Given the description of an element on the screen output the (x, y) to click on. 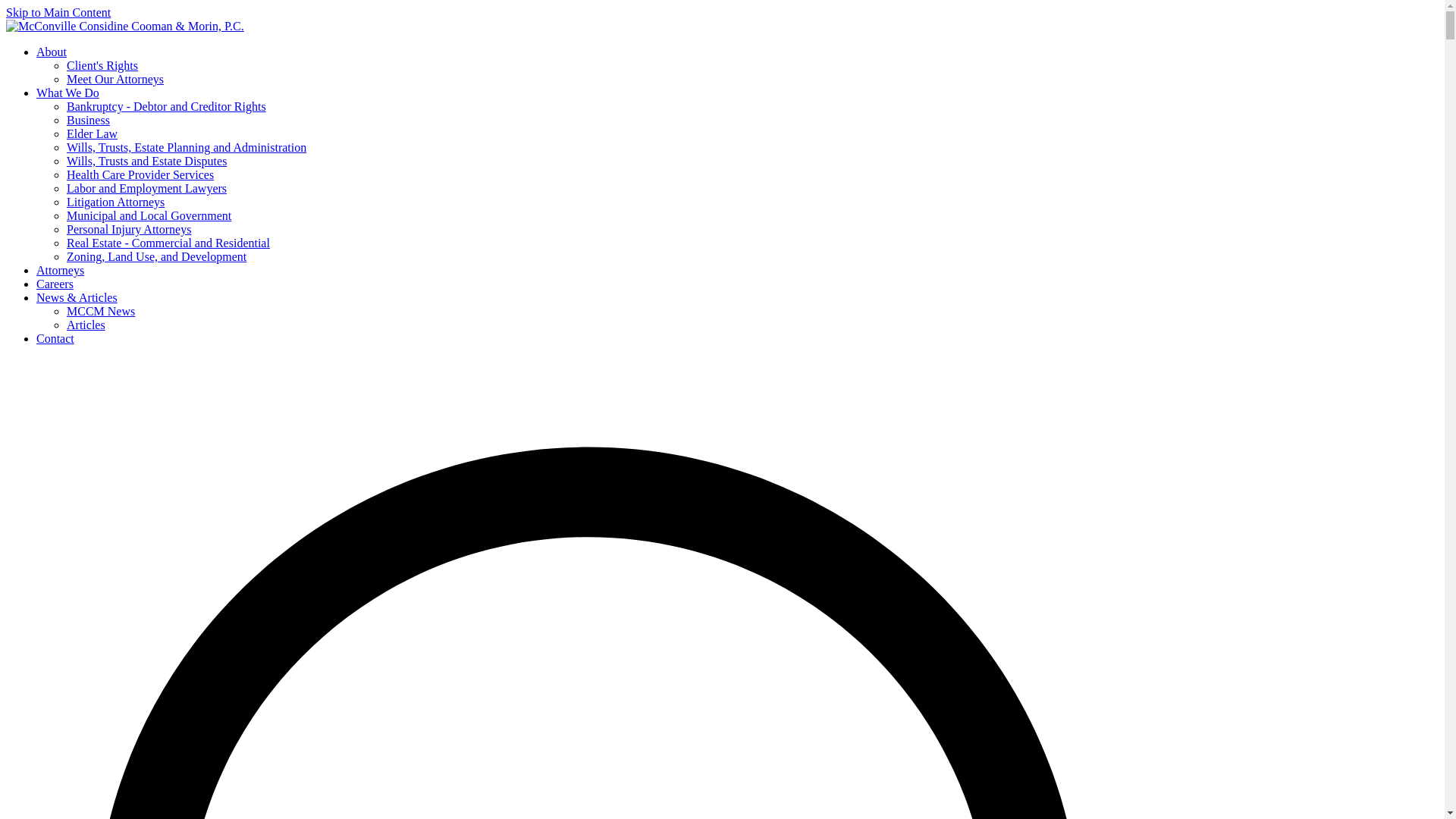
Municipal and Local Government (148, 215)
Wills, Trusts and Estate Disputes (146, 160)
What We Do (67, 92)
Labor and Employment Lawyers (146, 187)
About (51, 51)
Skip to Main Content (57, 11)
MCCM News (100, 310)
Health Care Provider Services (140, 174)
Bankruptcy - Debtor and Creditor Rights (166, 106)
Meet Our Attorneys (114, 78)
Personal Injury Attorneys (128, 228)
Client's Rights (102, 65)
Litigation Attorneys (115, 201)
Elder Law (91, 133)
Careers (55, 283)
